Given the description of an element on the screen output the (x, y) to click on. 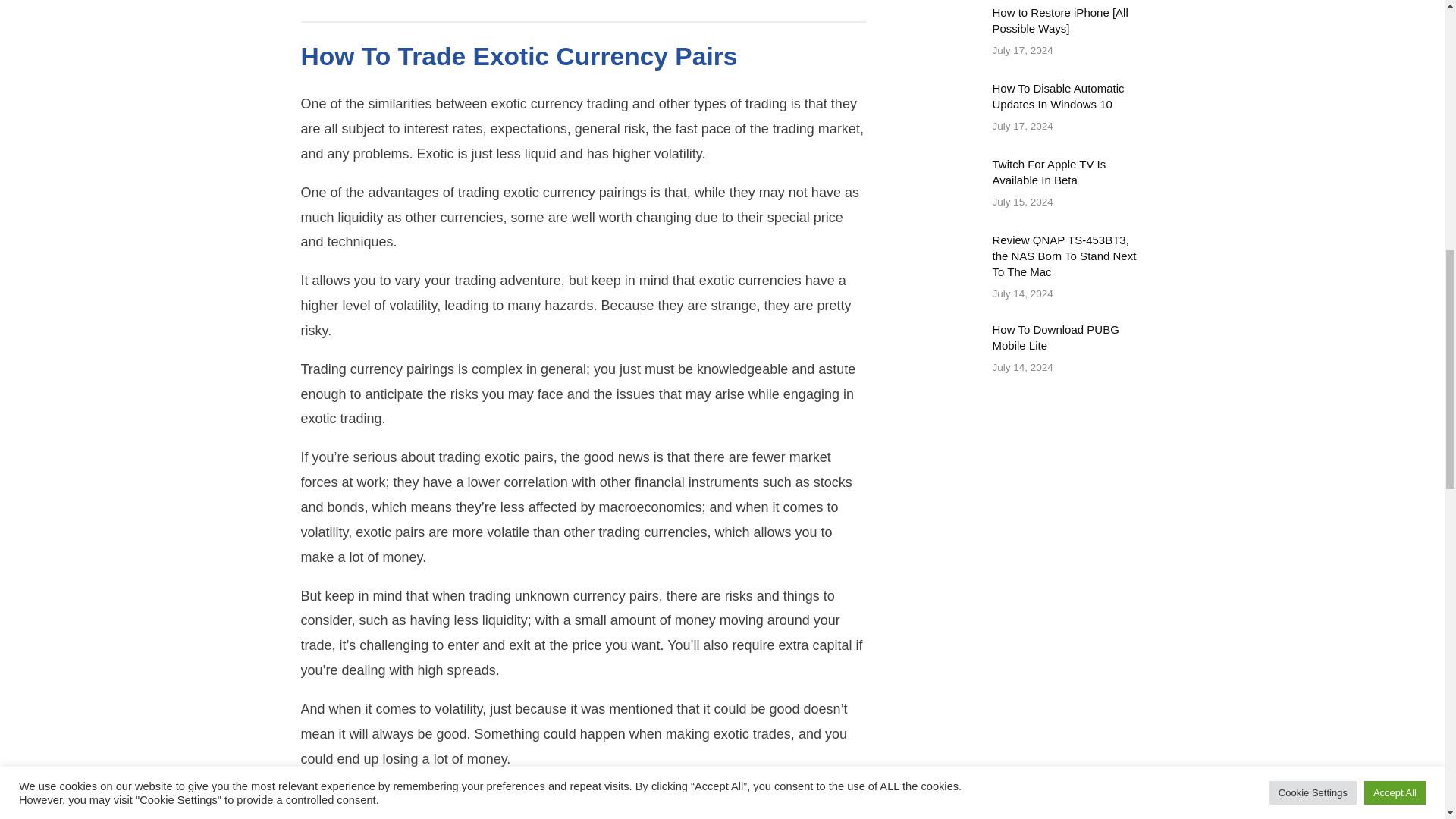
Review QNAP TS-453BT3, the NAS Born To Stand Next To The Mac (1028, 272)
Twitch For Apple TV Is Available In Beta (1028, 355)
How To Download PUBG Mobile Lite (1028, 190)
How To Disable Automatic Updates In Windows 10 (1028, 114)
